Given the description of an element on the screen output the (x, y) to click on. 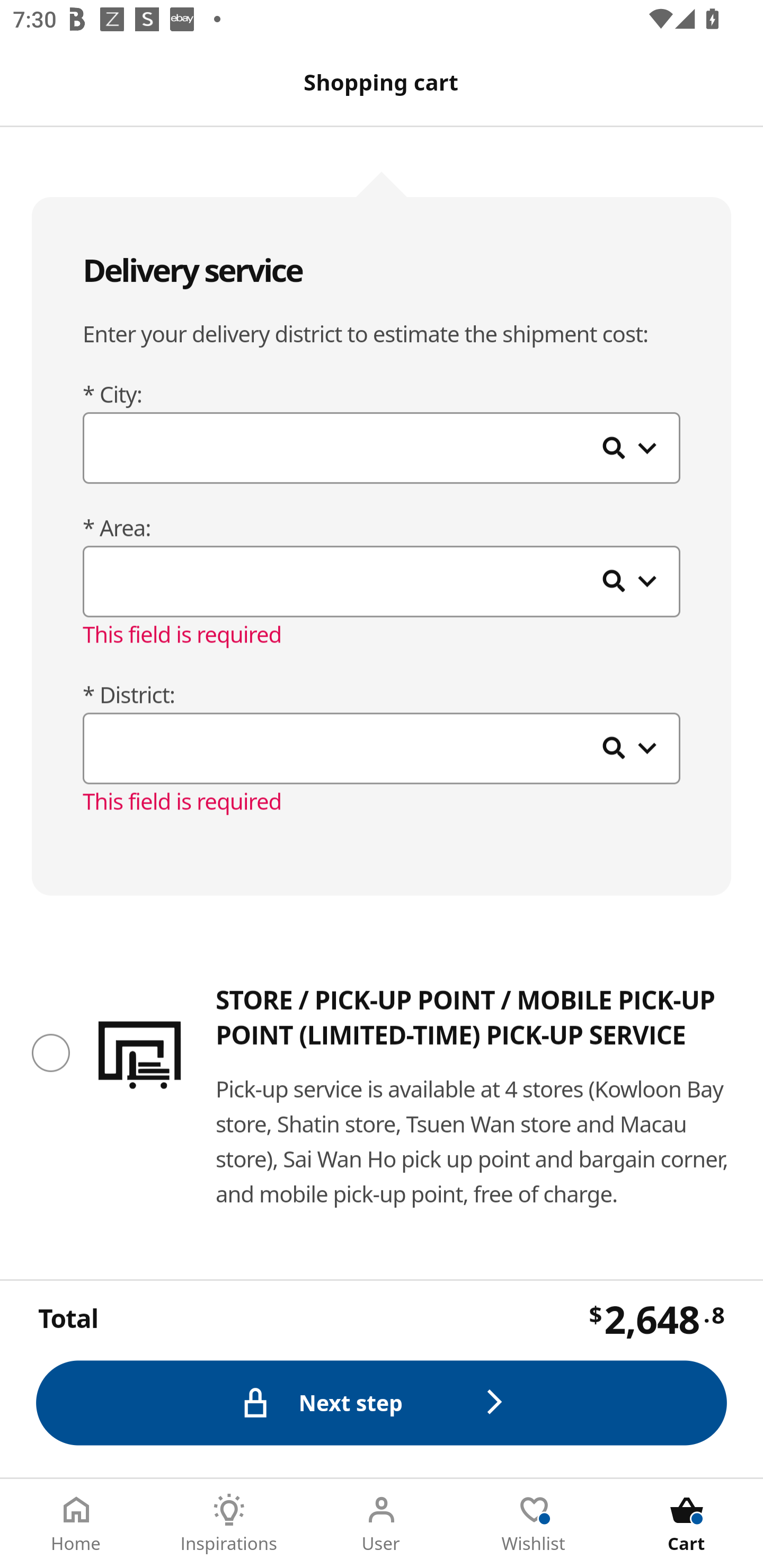
  (381, 449)
  (381, 583)
  (381, 750)
Home
Tab 1 of 5 (76, 1522)
Inspirations
Tab 2 of 5 (228, 1522)
User
Tab 3 of 5 (381, 1522)
Wishlist
Tab 4 of 5 (533, 1522)
Cart
Tab 5 of 5 (686, 1522)
